Given the description of an element on the screen output the (x, y) to click on. 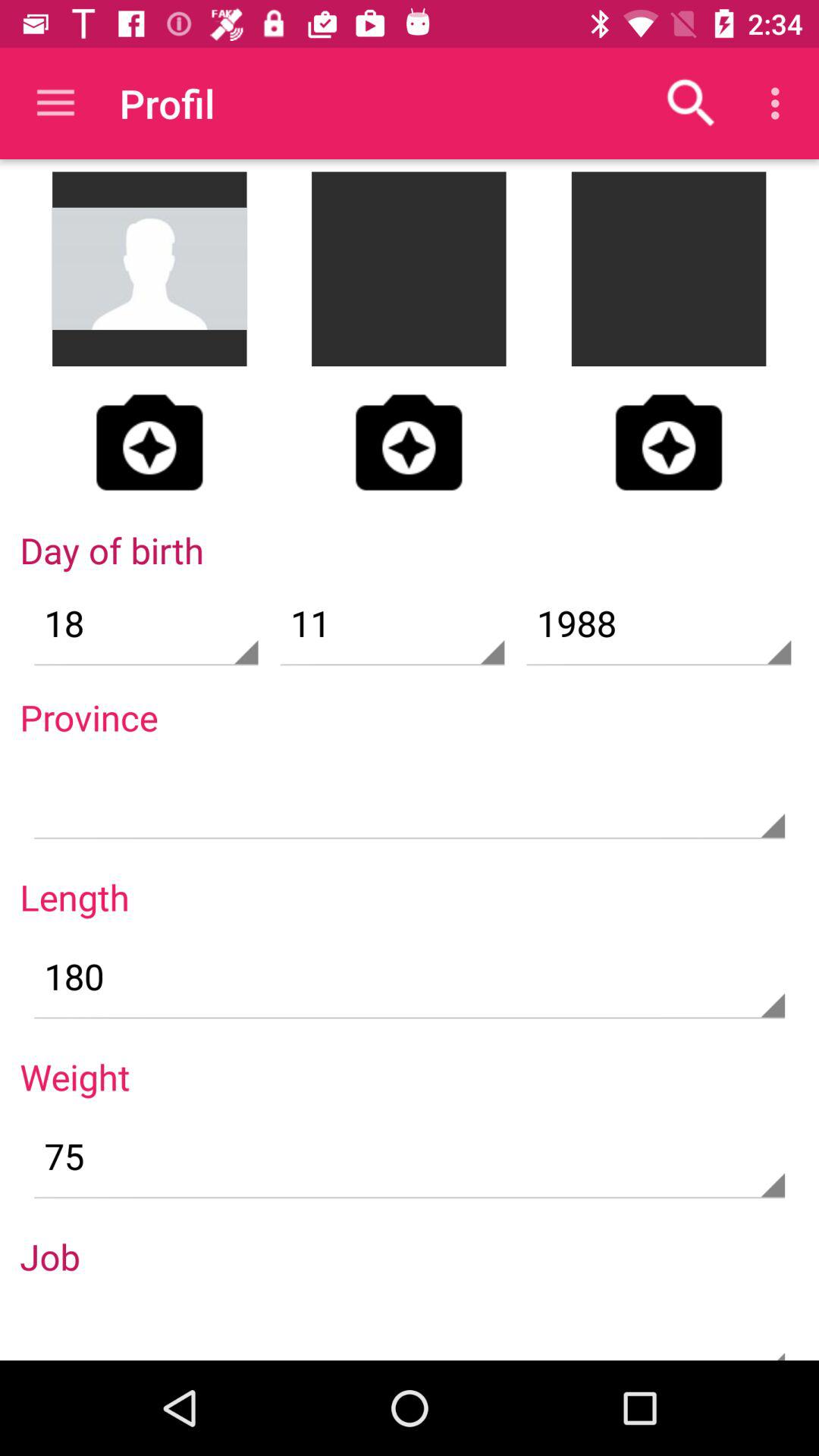
snap image (668, 442)
